Given the description of an element on the screen output the (x, y) to click on. 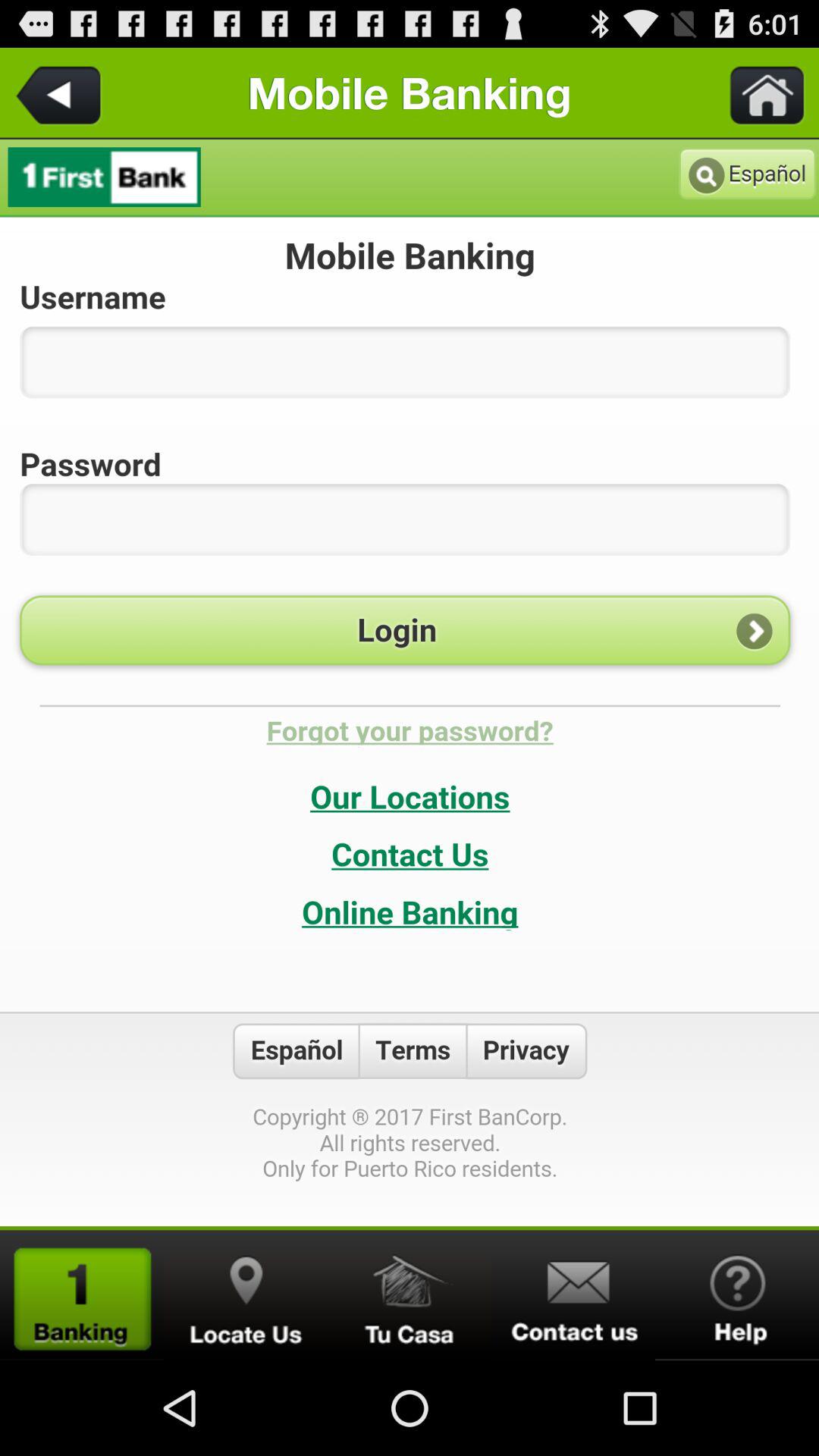
home (409, 1295)
